Given the description of an element on the screen output the (x, y) to click on. 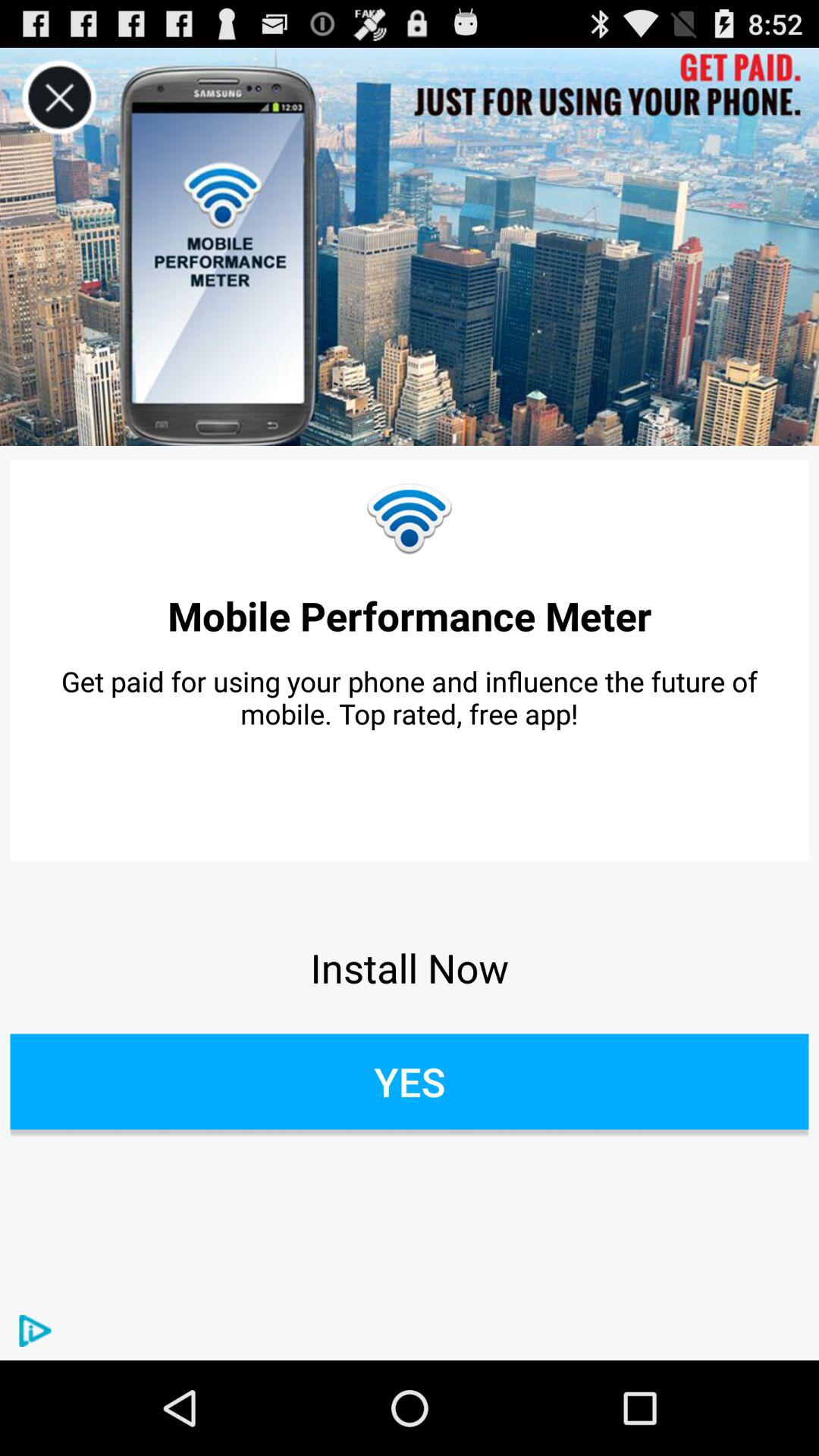
flip until yes button (409, 1081)
